Given the description of an element on the screen output the (x, y) to click on. 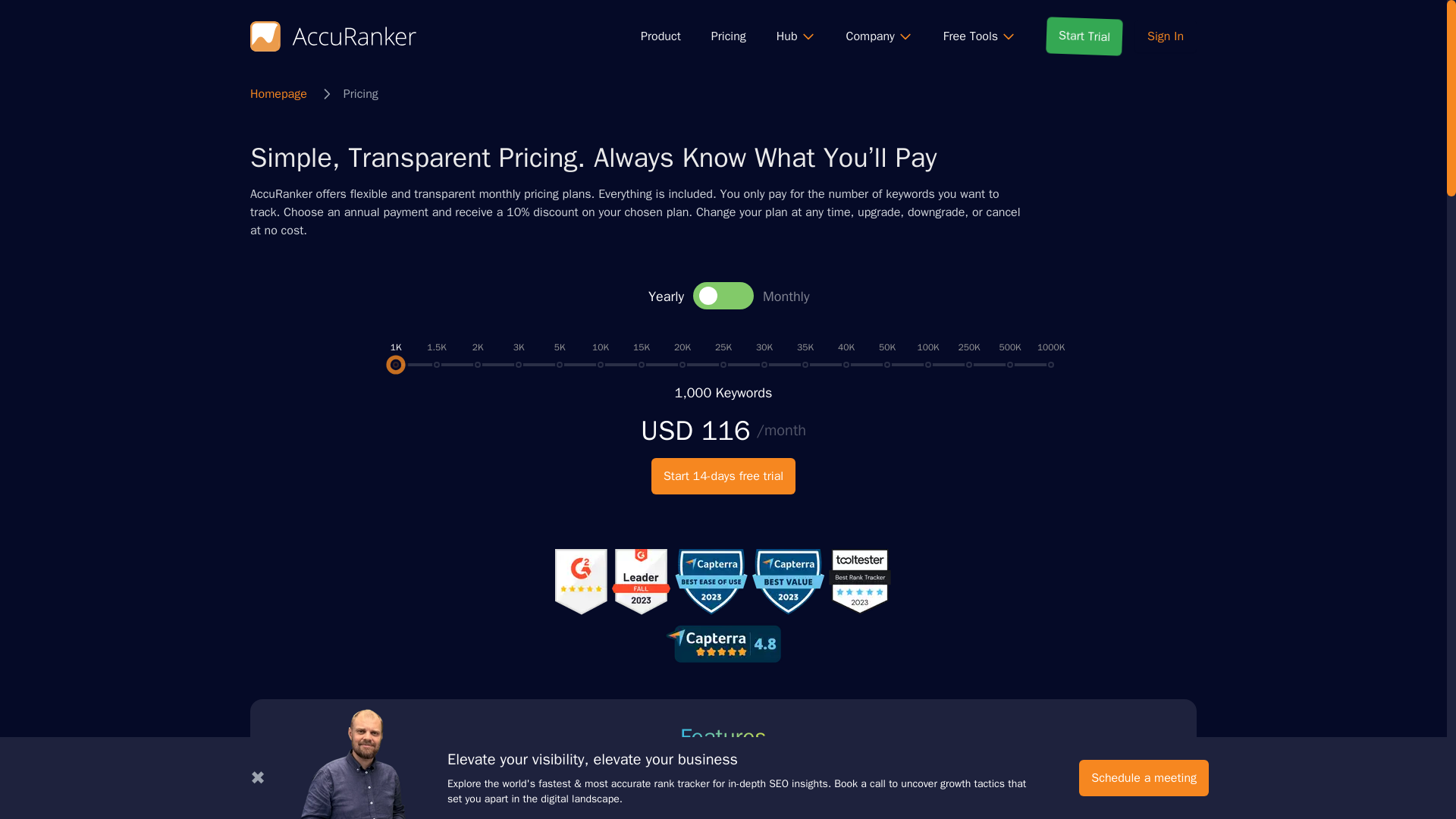
Start Trial (1084, 36)
Product (660, 36)
Homepage (278, 93)
Start 14-days free trial (722, 475)
AccuRanker Logo (333, 36)
Pricing (728, 36)
Hub (795, 36)
Free Tools (979, 36)
Sign In (1165, 36)
Company (878, 36)
